Given the description of an element on the screen output the (x, y) to click on. 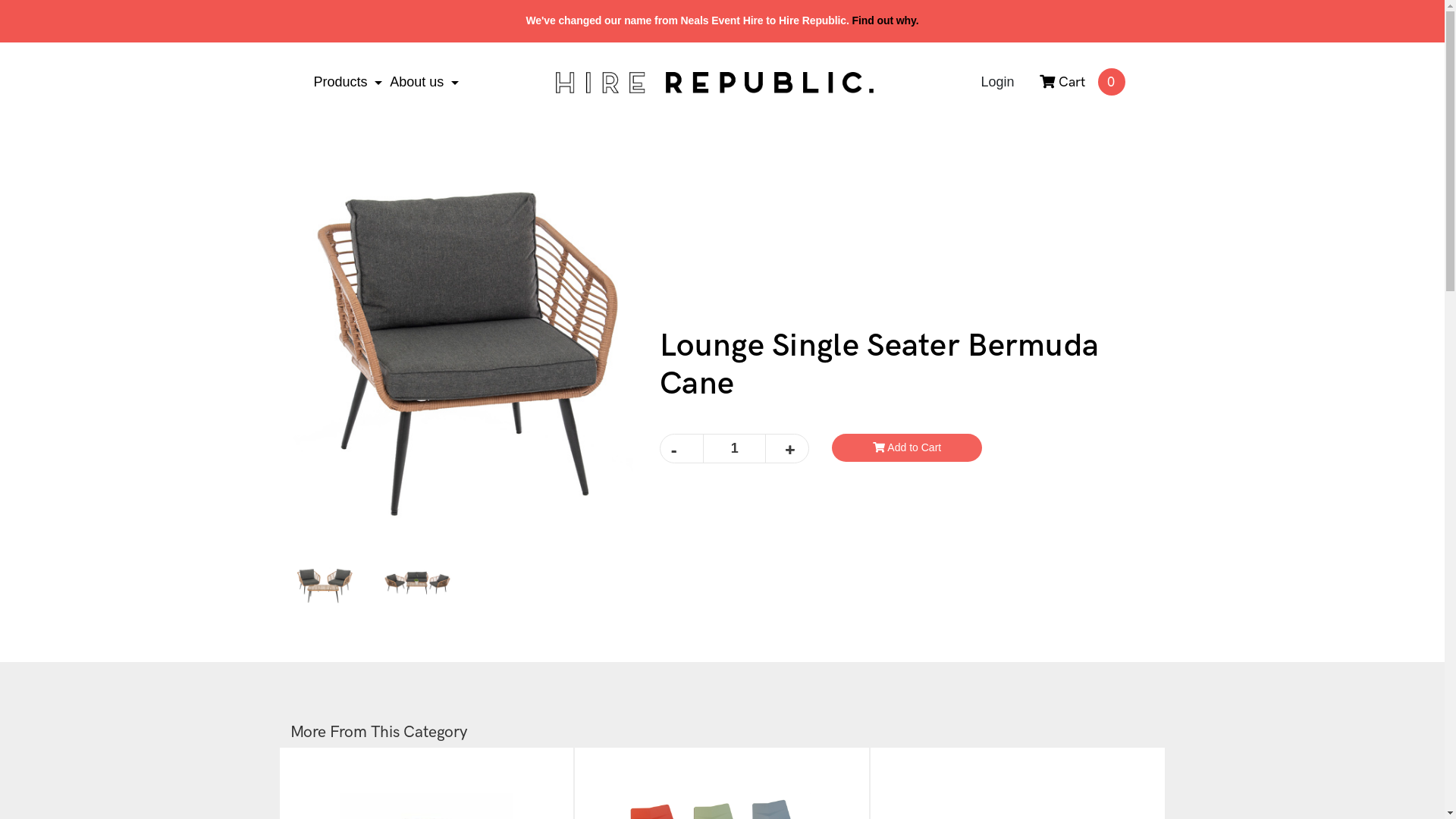
Hire Republic Element type: hover (714, 82)
Login Element type: text (997, 82)
Products Element type: text (347, 82)
Product main image Element type: hover (463, 347)
Find out why. Element type: text (885, 20)
About us Element type: text (423, 82)
Add to Cart Element type: text (906, 447)
Product main image Element type: hover (324, 580)
Product alt image 1 Element type: hover (416, 580)
Cart
0 Element type: text (1062, 82)
